Given the description of an element on the screen output the (x, y) to click on. 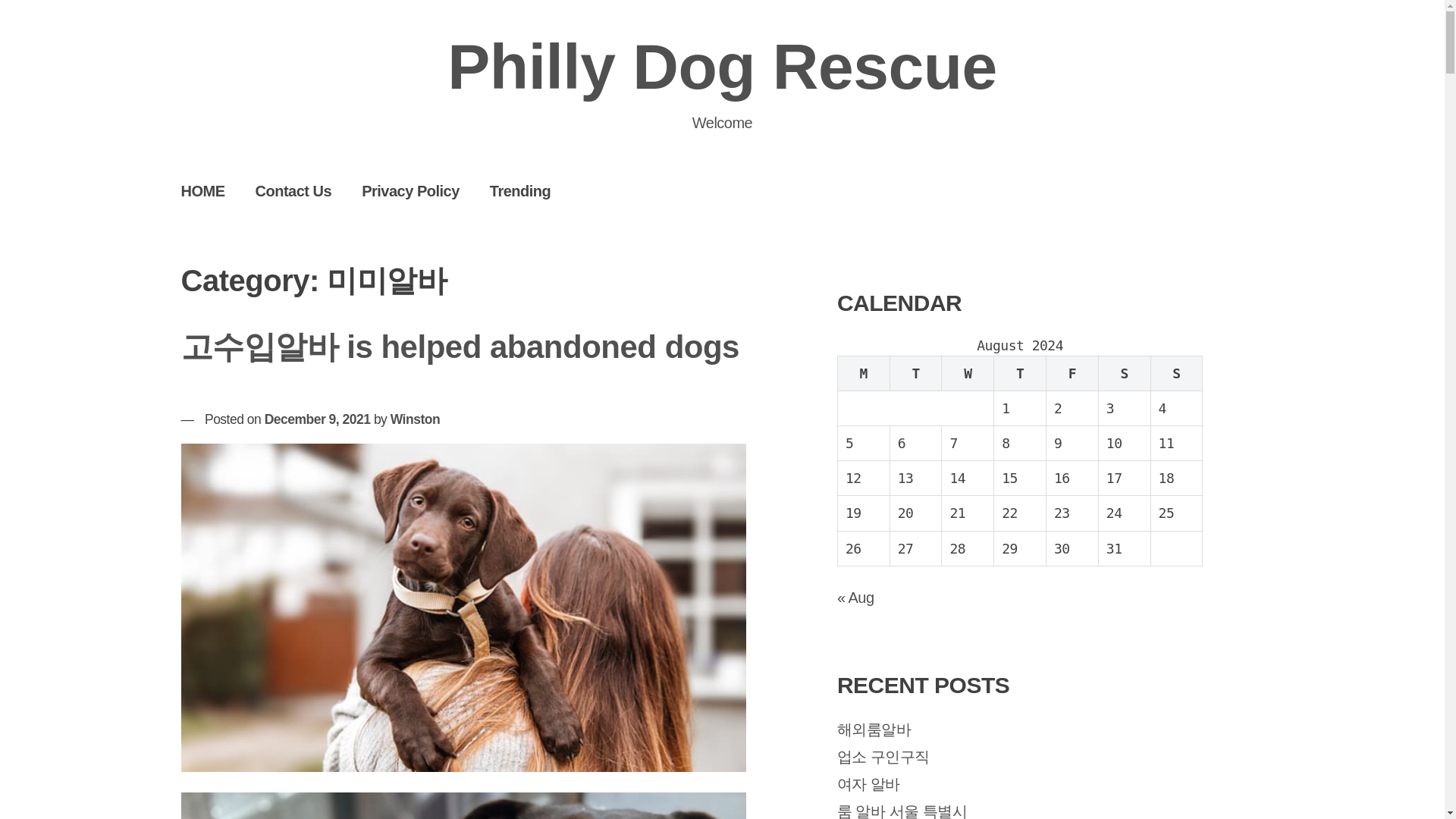
Winston (414, 418)
Wednesday (968, 372)
Tuesday (915, 372)
Contact Us (293, 190)
Saturday (1123, 372)
HOME (202, 190)
Privacy Policy (410, 190)
Friday (1072, 372)
Philly Dog Rescue (720, 66)
Monday (863, 372)
